Given the description of an element on the screen output the (x, y) to click on. 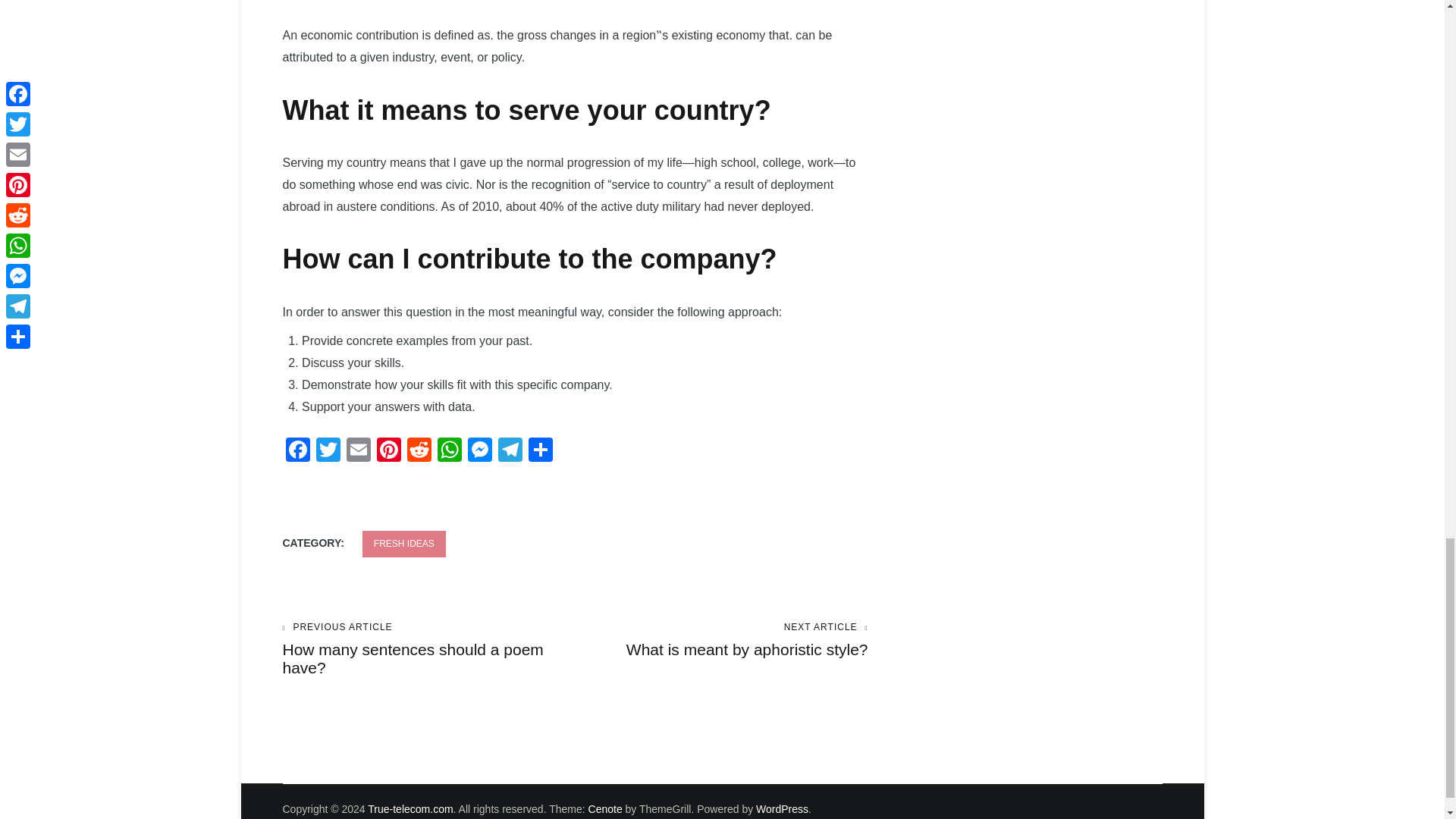
Facebook (297, 451)
Share (539, 451)
FRESH IDEAS (403, 543)
Facebook (721, 640)
Email (297, 451)
Reddit (357, 451)
Messenger (418, 451)
Pinterest (479, 451)
Twitter (387, 451)
Messenger (327, 451)
Pinterest (428, 649)
Twitter (479, 451)
True-telecom.com (387, 451)
